Given the description of an element on the screen output the (x, y) to click on. 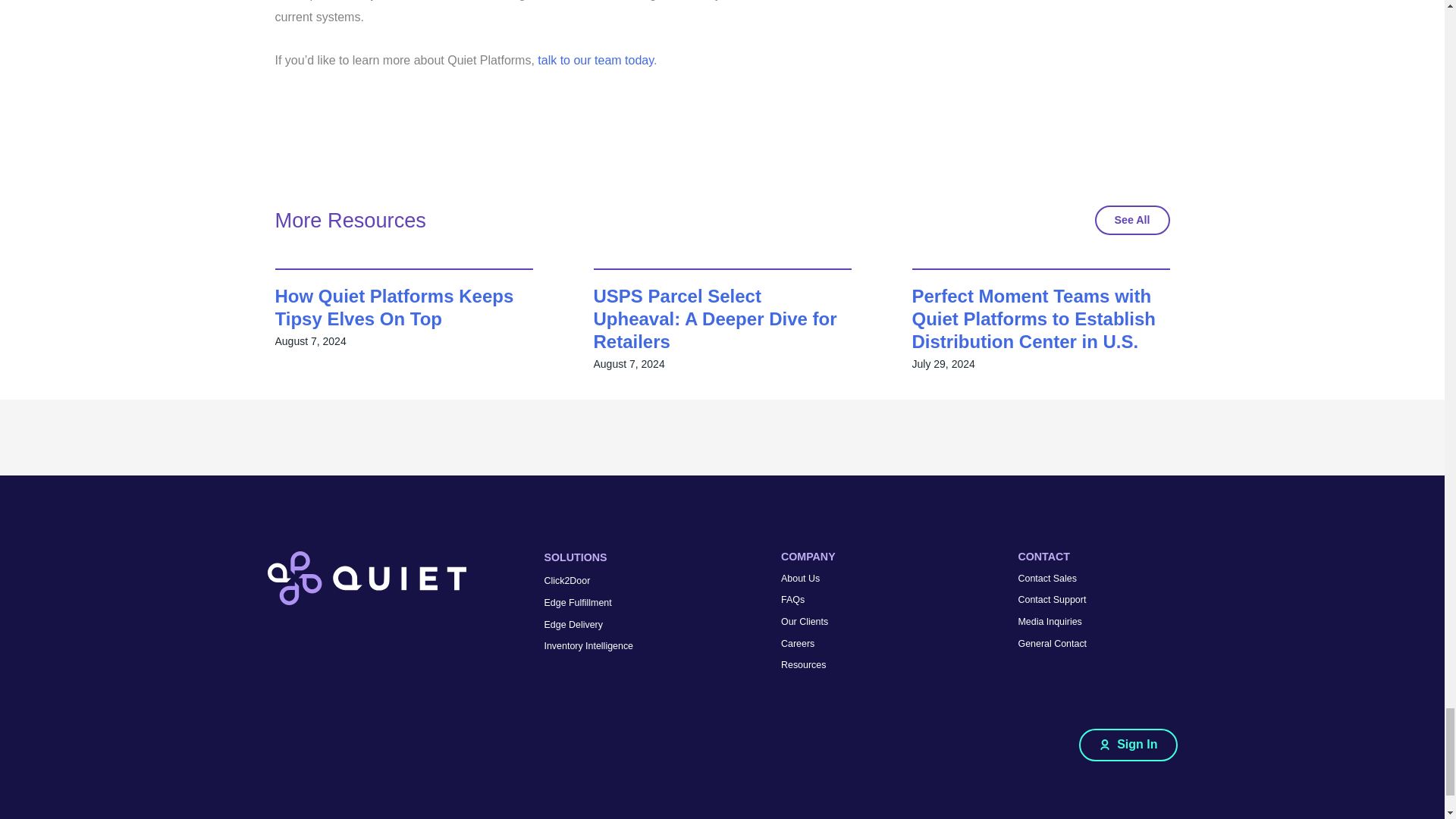
USPS Parcel Select Upheaval: A Deeper Dive for Retailers (713, 318)
See All (1132, 220)
How Quiet Platforms Keeps Tipsy Elves On Top (394, 307)
talk to our team today (595, 60)
